Given the description of an element on the screen output the (x, y) to click on. 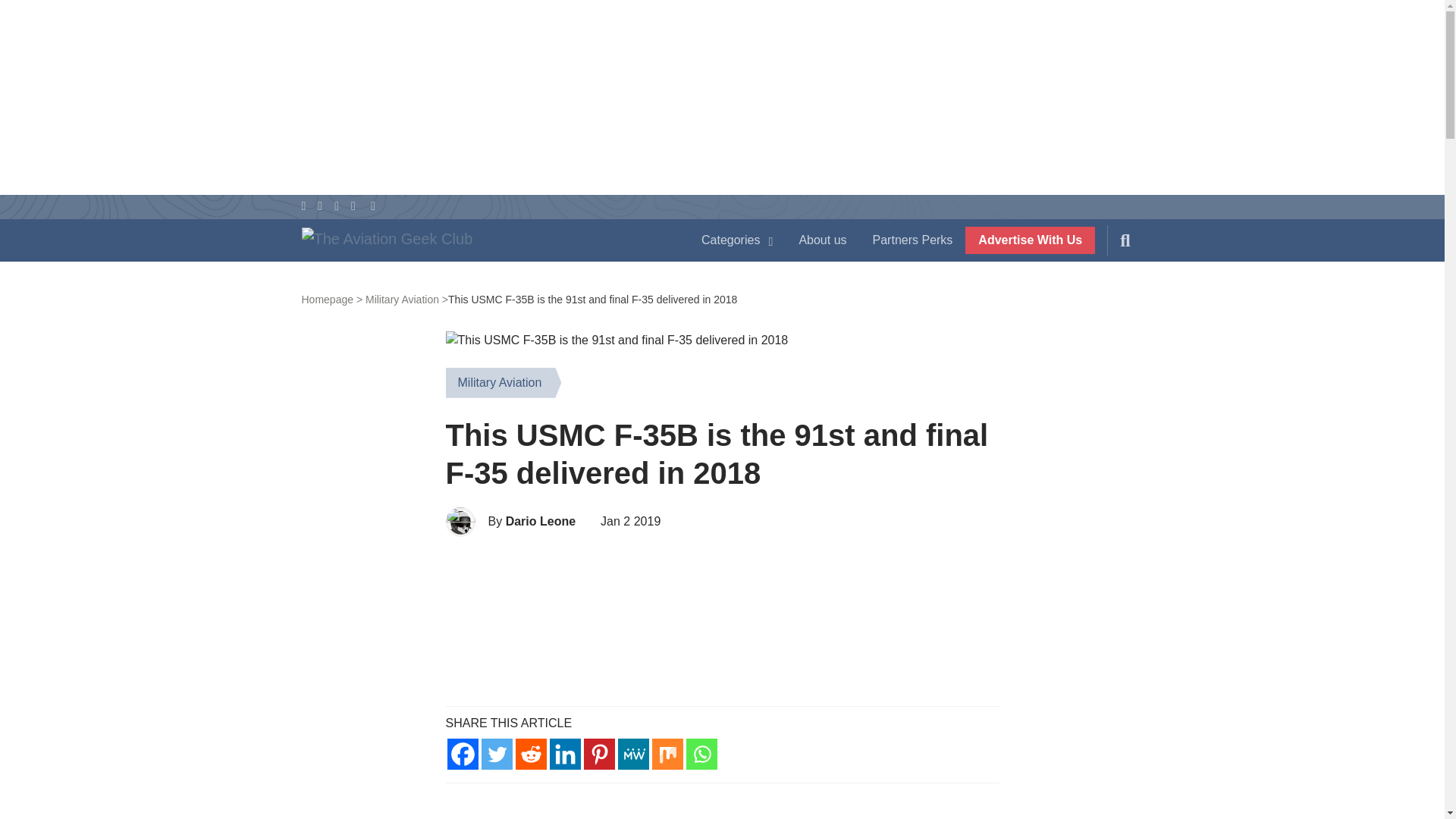
Facebook (462, 753)
Partners Perks (913, 239)
About us (822, 239)
This USMC F-35B is the 91st and final F-35 delivered in 2018 (617, 340)
Back to homepage (331, 299)
Categories (737, 239)
Back to Home (485, 242)
Advertise With Us (1029, 239)
Advertisement (721, 621)
